Given the description of an element on the screen output the (x, y) to click on. 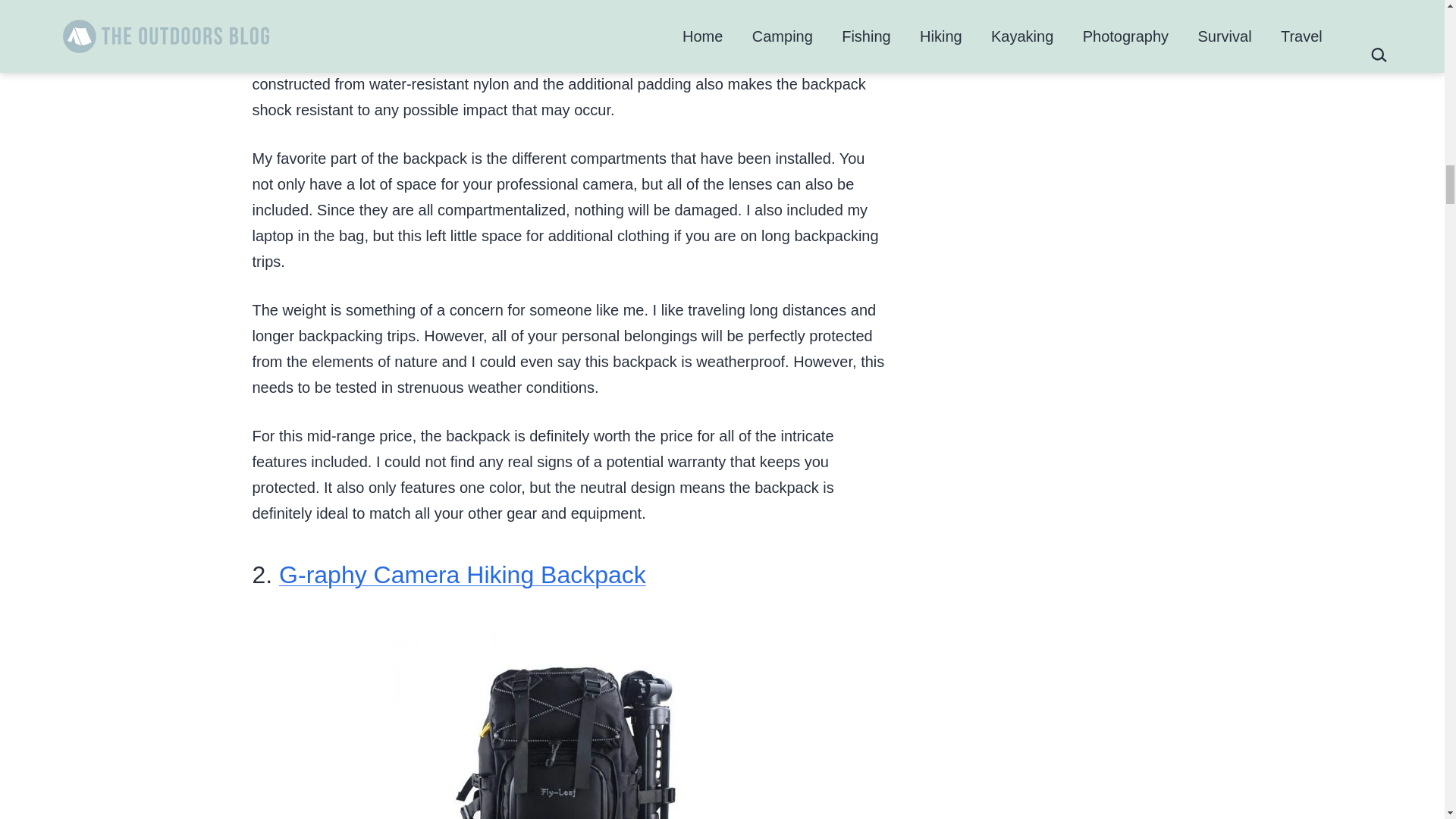
G-raphy Camera Hiking Backpack (462, 574)
